Given the description of an element on the screen output the (x, y) to click on. 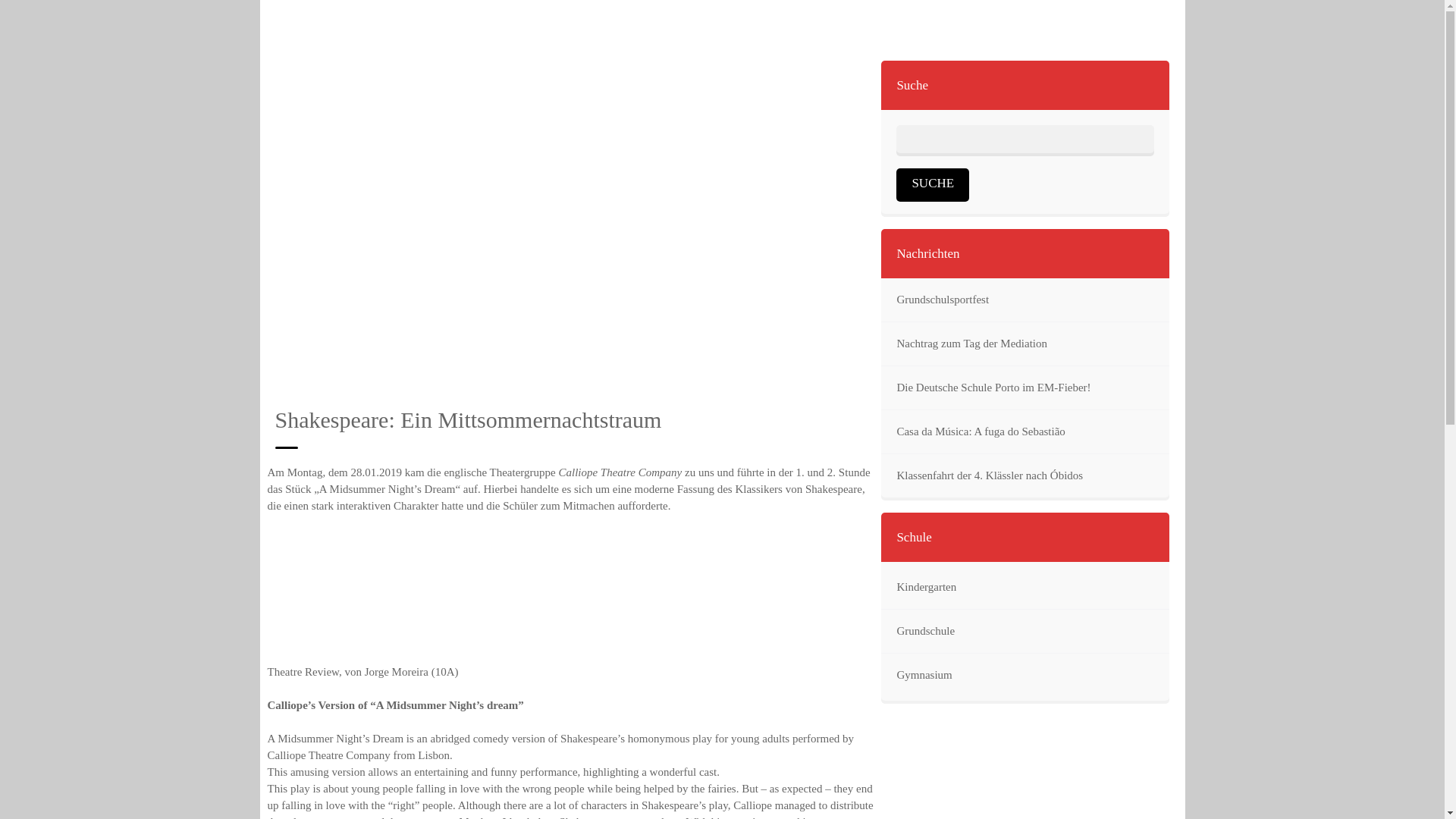
Gymnasium (923, 674)
Suche (932, 183)
Kindergarten (925, 587)
Grundschule (924, 630)
Die Deutsche Schule Porto im EM-Fieber! (992, 387)
Suche (932, 183)
Grundschulsportfest (942, 299)
Nachtrag zum Tag der Mediation (971, 343)
